Given the description of an element on the screen output the (x, y) to click on. 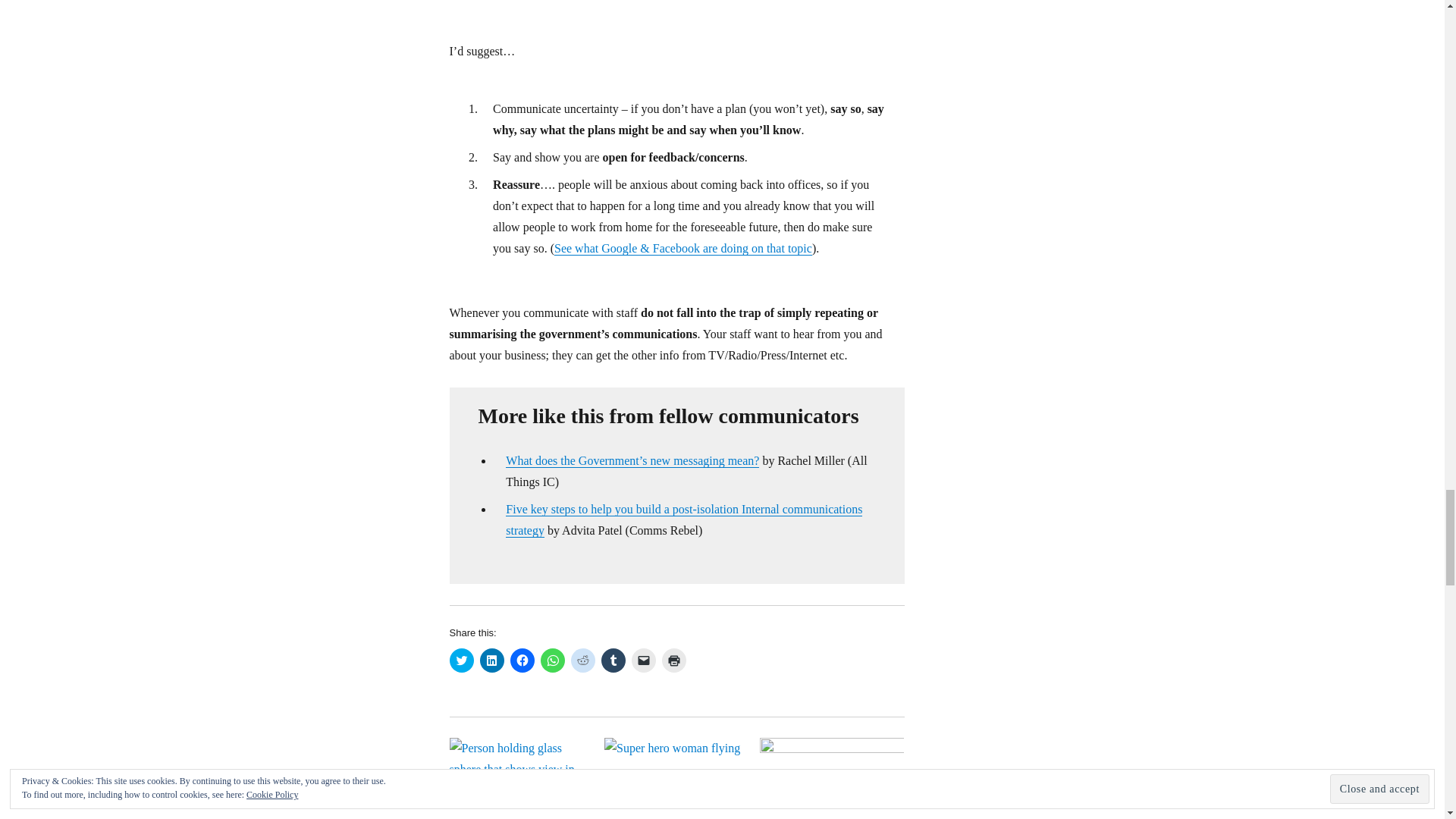
Click to share on LinkedIn (491, 660)
Click to share on Facebook (521, 660)
Click to share on Twitter (460, 660)
Click to share on WhatsApp (552, 660)
Click to print (673, 660)
Perspective in Communications (521, 778)
Click to share on Reddit (582, 660)
Click to share on Tumblr (611, 660)
Superhero change communications (676, 778)
UX design meets internal communications (832, 778)
Click to email a link to a friend (642, 660)
